Given the description of an element on the screen output the (x, y) to click on. 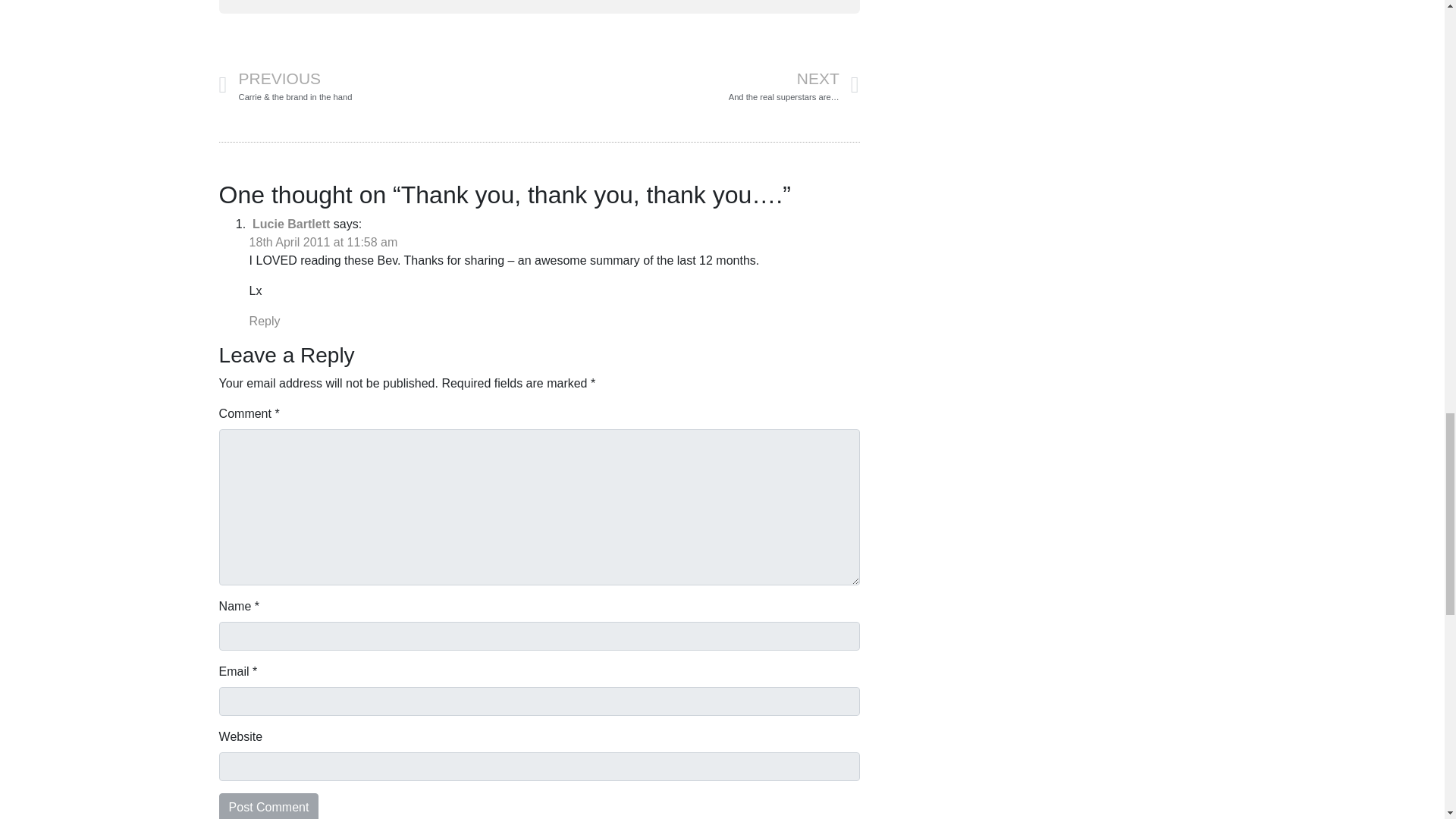
Post Comment (268, 806)
